Given the description of an element on the screen output the (x, y) to click on. 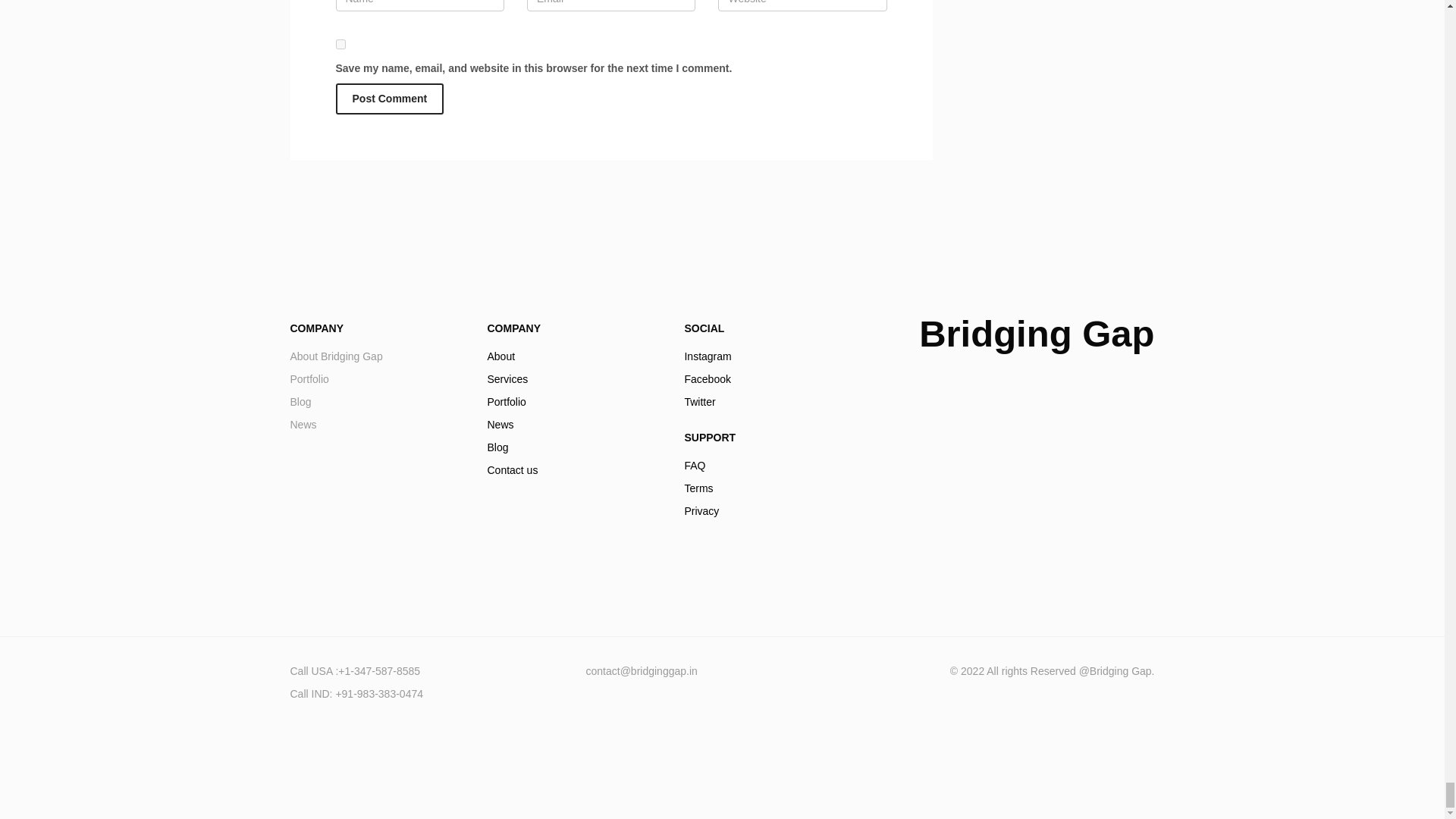
yes (771, 488)
Post Comment (573, 412)
